Given the description of an element on the screen output the (x, y) to click on. 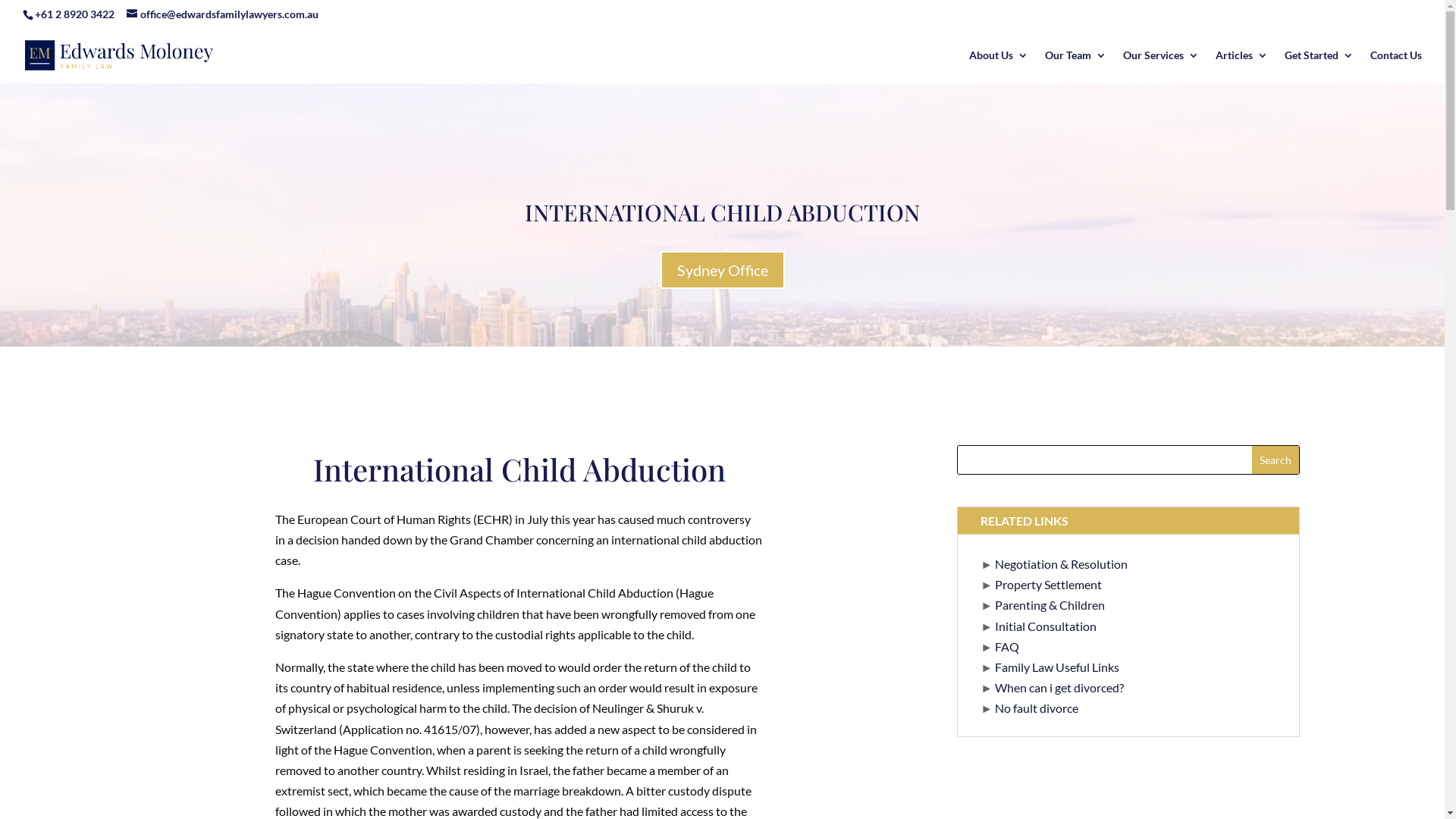
Get Started Element type: text (1318, 66)
No fault divorce Element type: text (1036, 707)
FAQ Element type: text (1006, 646)
Our Team Element type: text (1075, 66)
Articles Element type: text (1241, 66)
RELATED LINKS Element type: text (1128, 520)
office@edwardsfamilylawyers.com.au Element type: text (222, 13)
Contact Us Element type: text (1395, 66)
+61 2 8920 3422 Element type: text (74, 13)
When can i get divorced? Element type: text (1058, 687)
Negotiation & Resolution Element type: text (1060, 563)
Search Element type: text (1275, 459)
Initial Consultation Element type: text (1045, 625)
Parenting & Children Element type: text (1049, 604)
Family Law Useful Links Element type: text (1056, 666)
Our Services Element type: text (1160, 66)
Property Settlement Element type: text (1047, 584)
Sydney Office Element type: text (721, 269)
About Us Element type: text (998, 66)
